Given the description of an element on the screen output the (x, y) to click on. 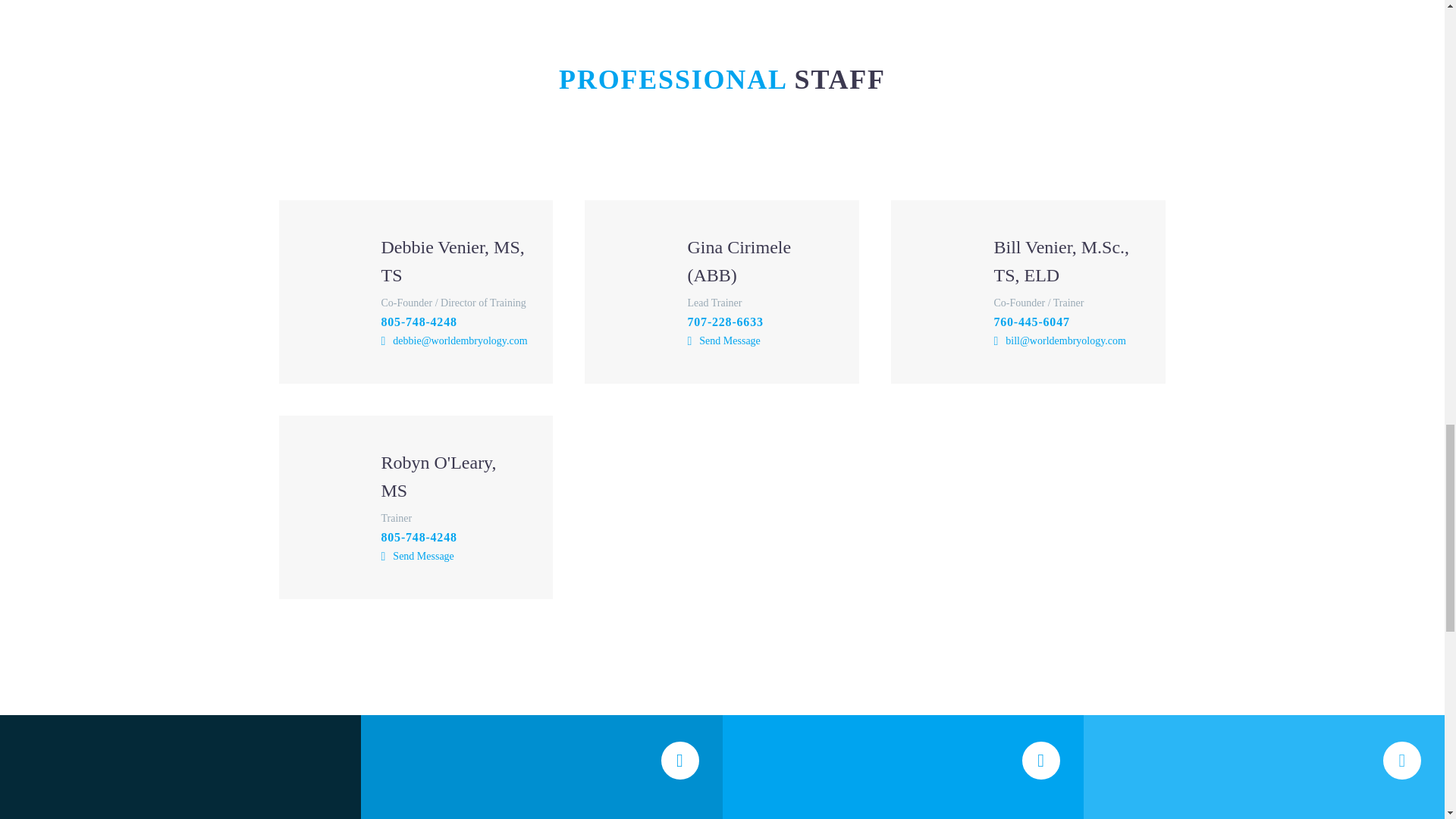
805-748-4248 (418, 321)
